Given the description of an element on the screen output the (x, y) to click on. 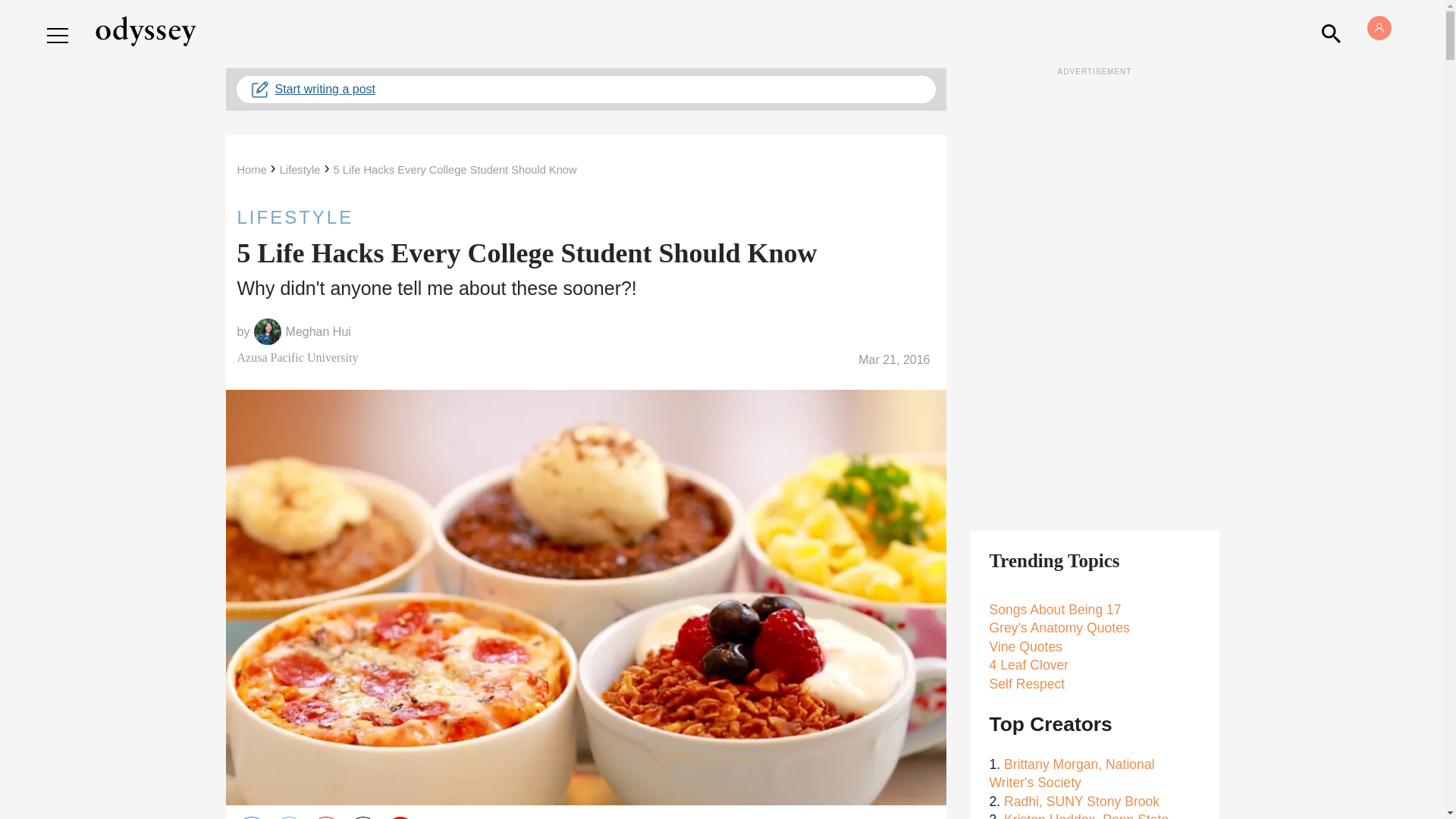
LIFESTYLE (584, 217)
Home (250, 169)
Start writing a post (585, 89)
Lifestyle (299, 169)
Meghan Hui (317, 332)
5 Life Hacks Every College Student Should Know (454, 169)
